Given the description of an element on the screen output the (x, y) to click on. 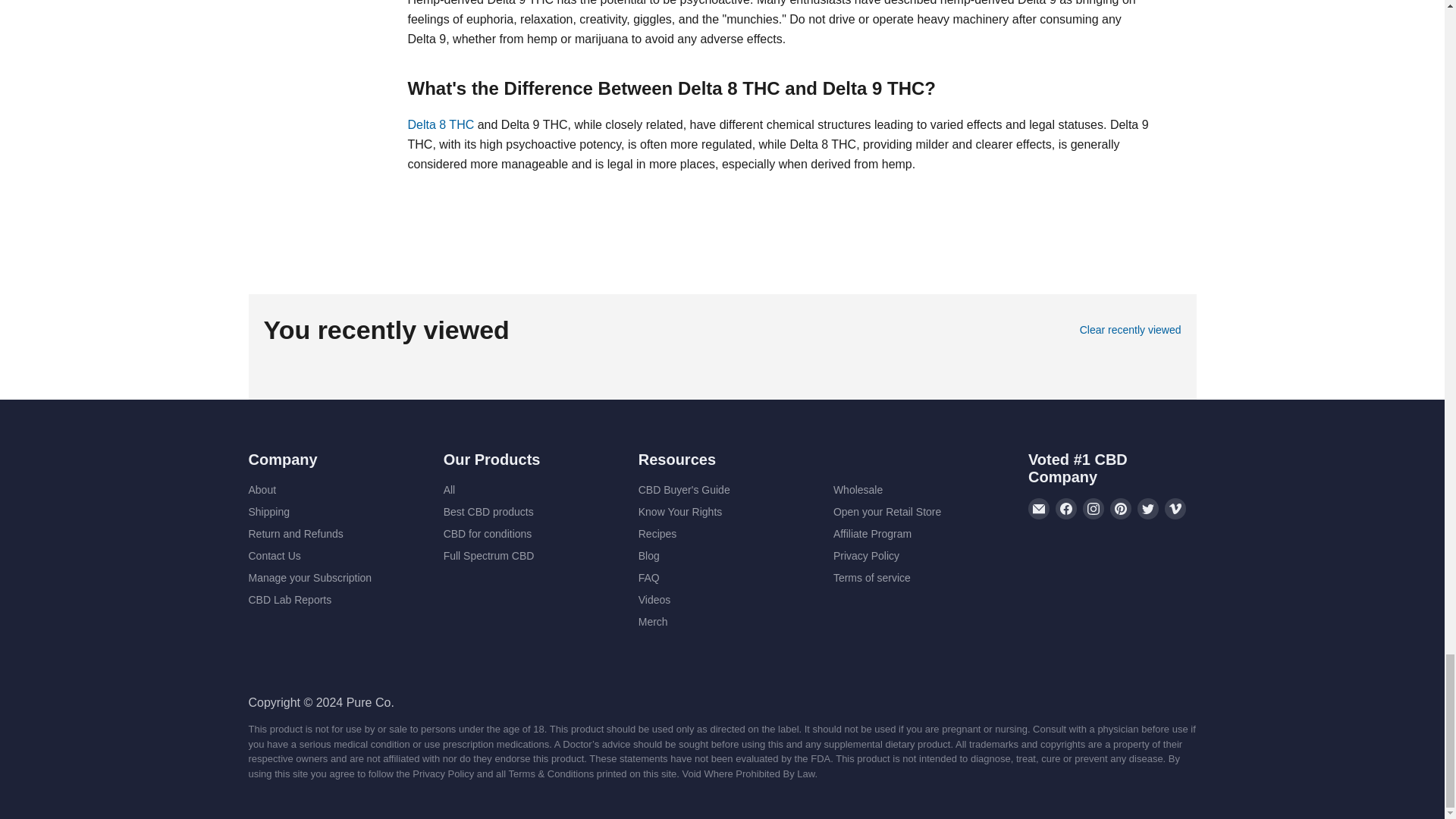
Vimeo (1175, 508)
Instagram (1093, 508)
Pinterest (1120, 508)
Twitter (1147, 508)
Facebook (1066, 508)
Email (1038, 508)
